Given the description of an element on the screen output the (x, y) to click on. 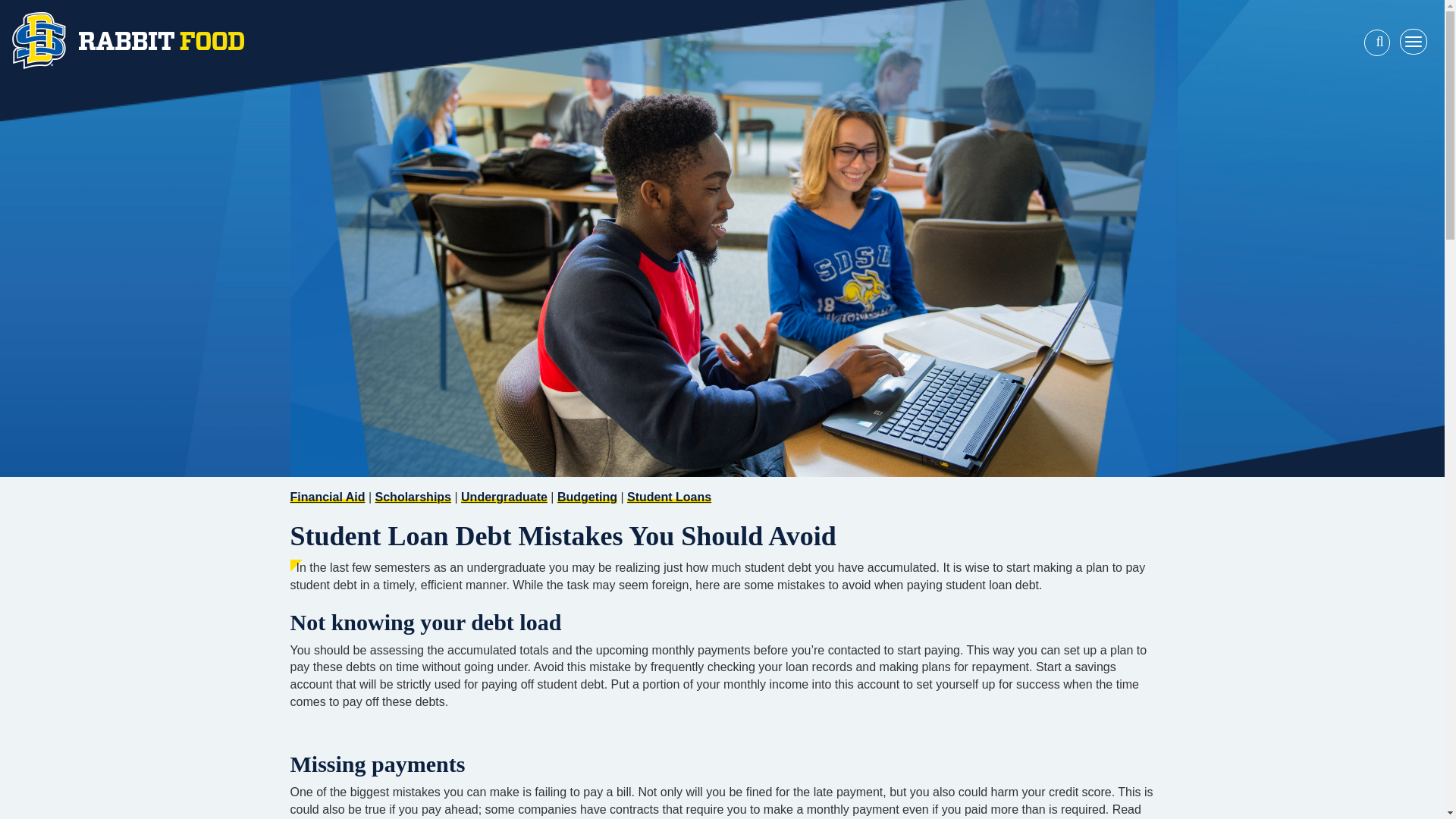
Financial Aid (327, 496)
Undergraduate (504, 496)
Toggle navigation (1412, 41)
Budgeting (587, 496)
Student Loans (669, 496)
Toggle Navigation (1418, 41)
Scholarships (413, 496)
